Given the description of an element on the screen output the (x, y) to click on. 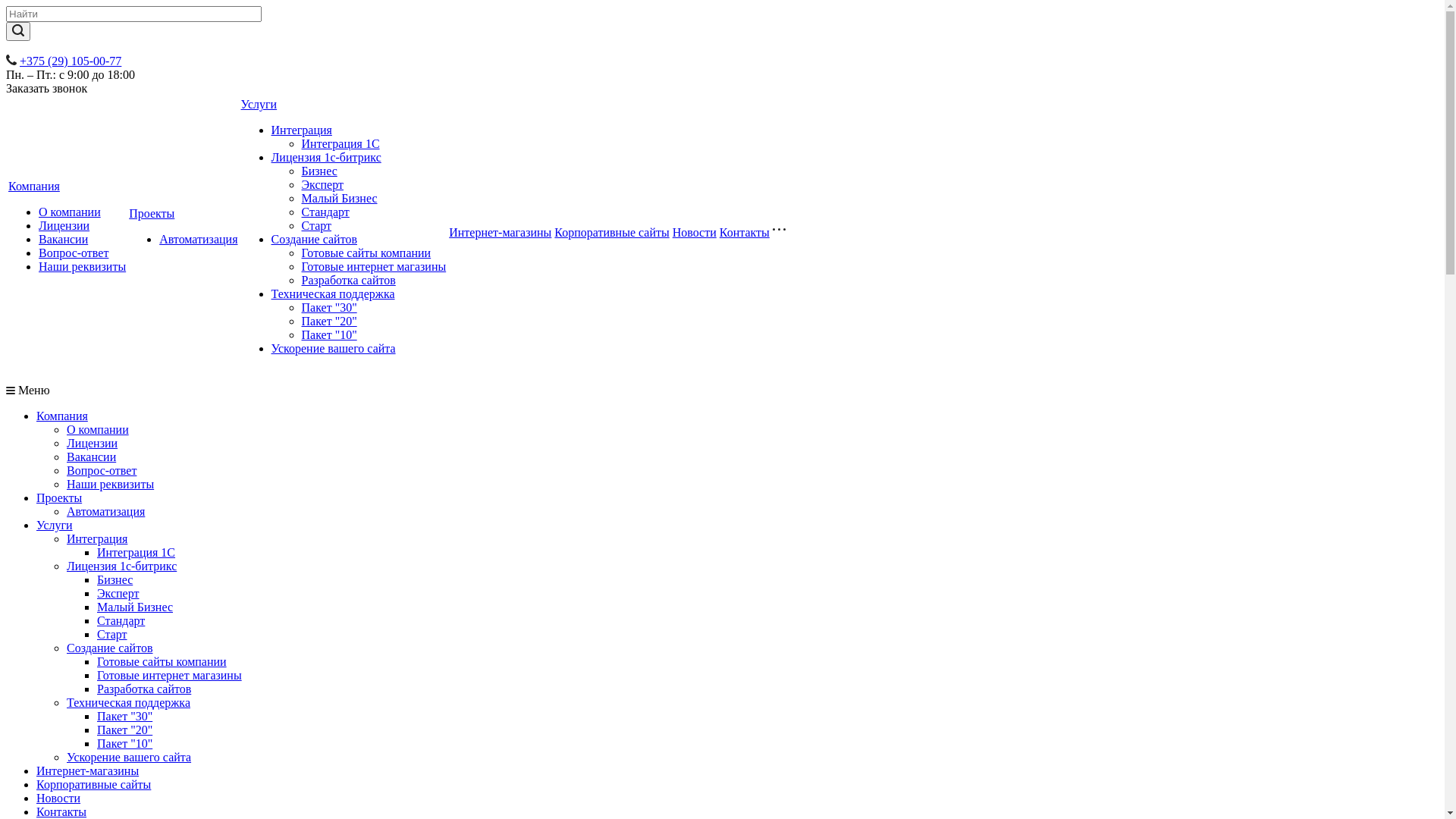
Studio 8 Element type: hover (6, 379)
+375 (29) 105-00-77 Element type: text (70, 60)
Studio 8 Element type: hover (6, 50)
